Given the description of an element on the screen output the (x, y) to click on. 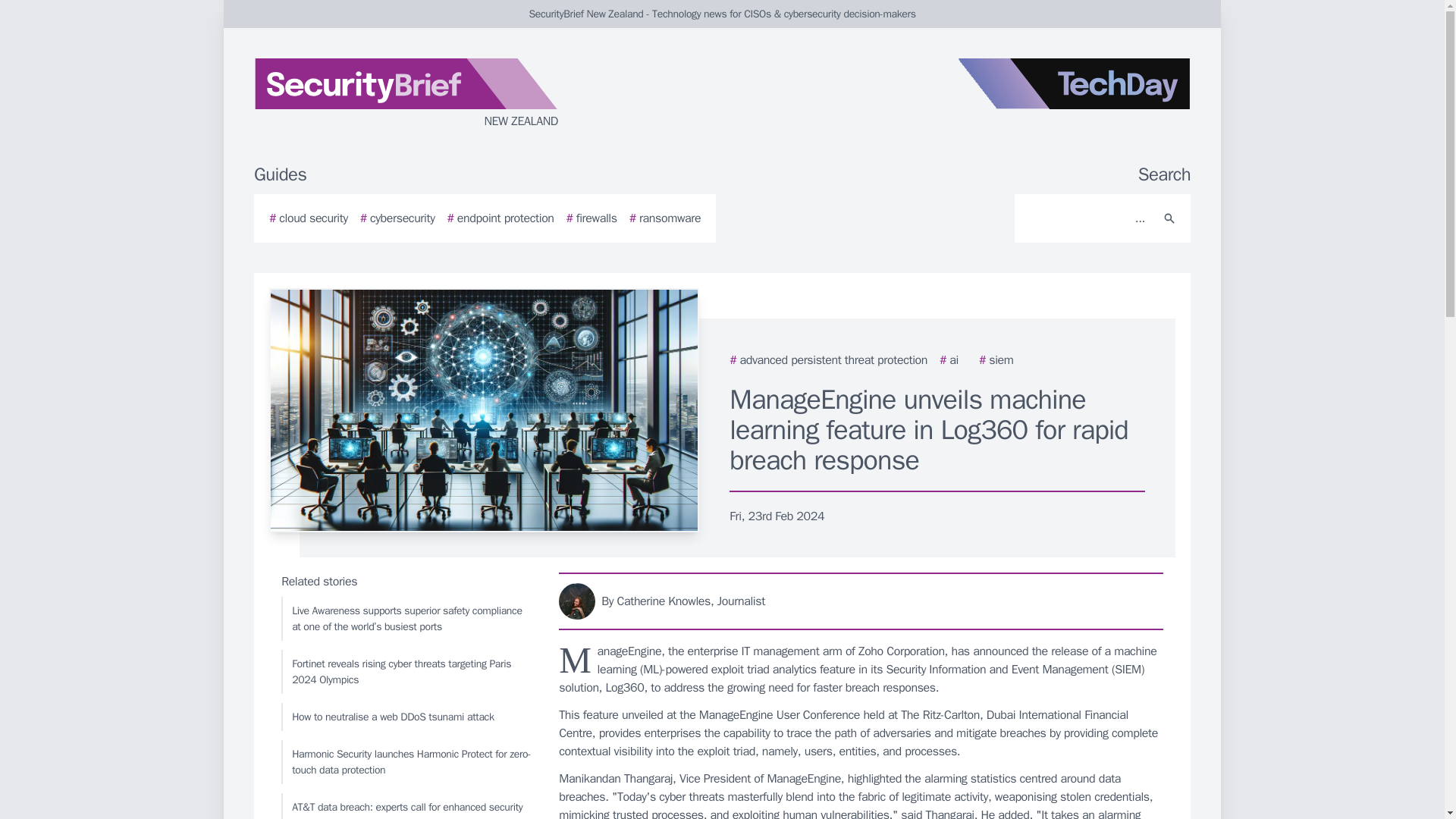
NEW ZEALAND (435, 94)
How to neutralise a web DDoS tsunami attack (406, 716)
By Catherine Knowles, Journalist (861, 601)
